Given the description of an element on the screen output the (x, y) to click on. 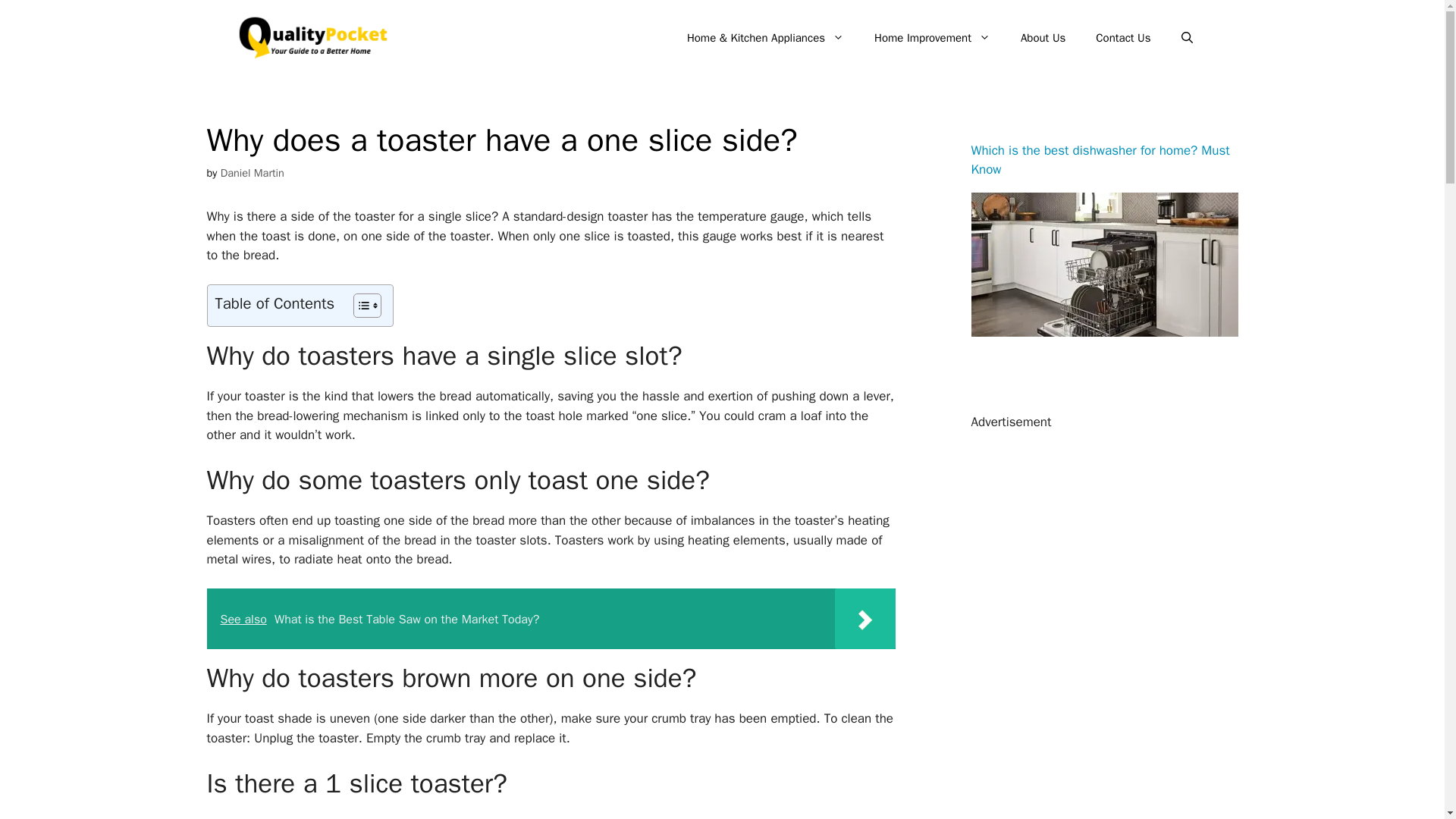
About Us (1043, 37)
Home Improvement (932, 37)
View all posts by Daniel Martin (252, 172)
Daniel Martin (252, 172)
Contact Us (1123, 37)
